Given the description of an element on the screen output the (x, y) to click on. 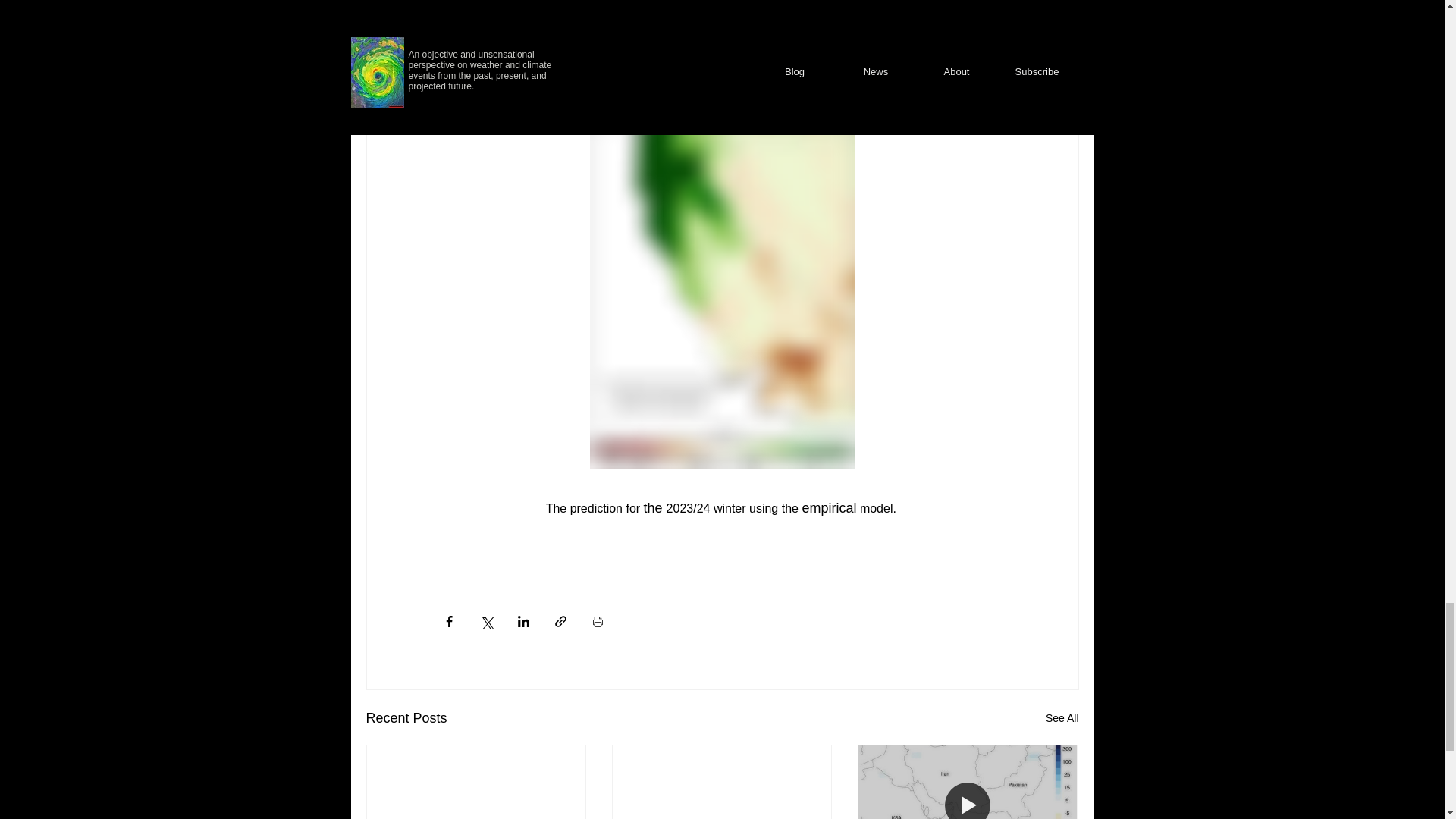
See All (1061, 718)
